Given the description of an element on the screen output the (x, y) to click on. 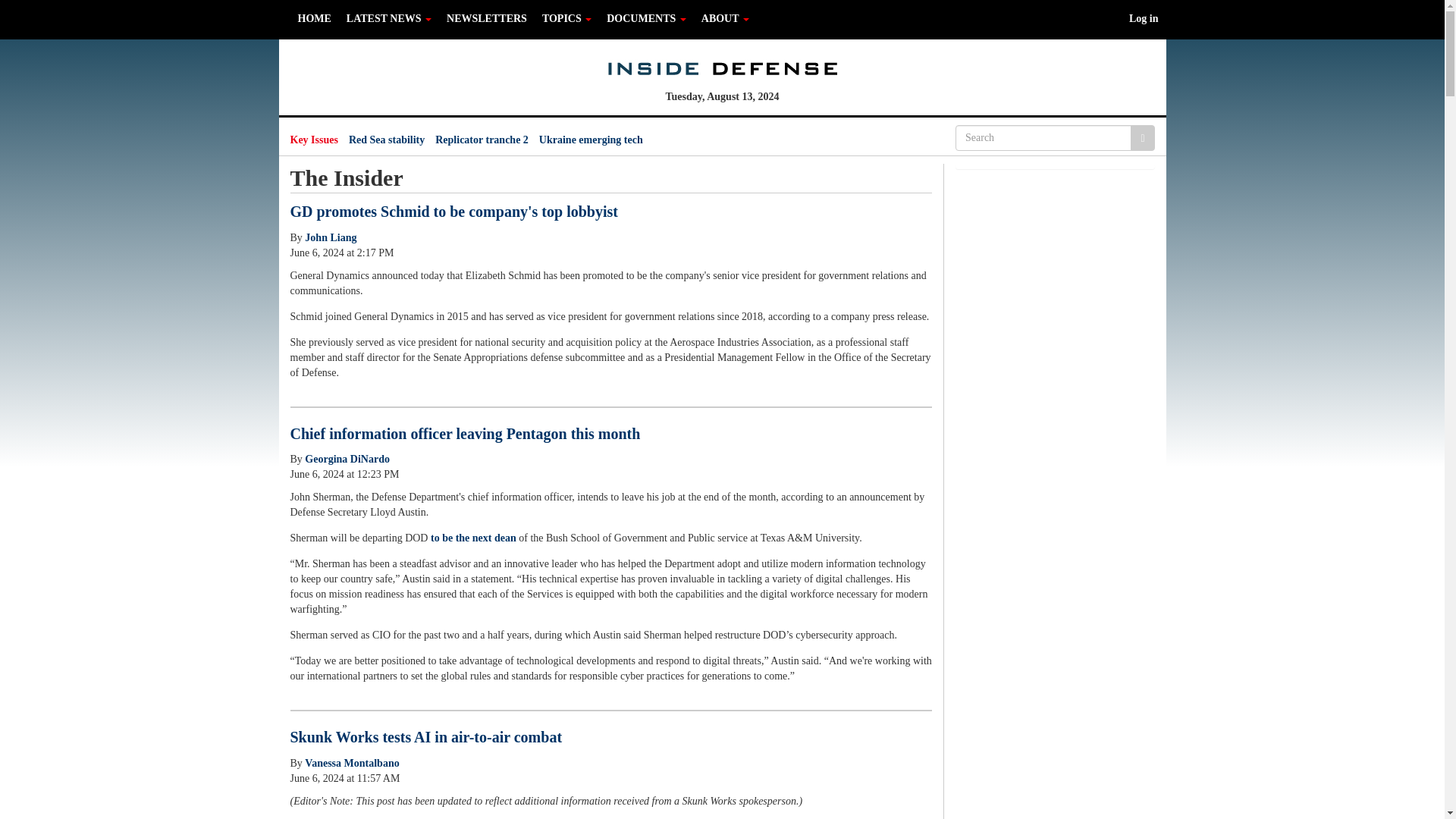
TOPICS (566, 18)
DOCUMENTS (646, 18)
HOME (313, 18)
LATEST NEWS (389, 18)
NEWSLETTERS (486, 18)
